Given the description of an element on the screen output the (x, y) to click on. 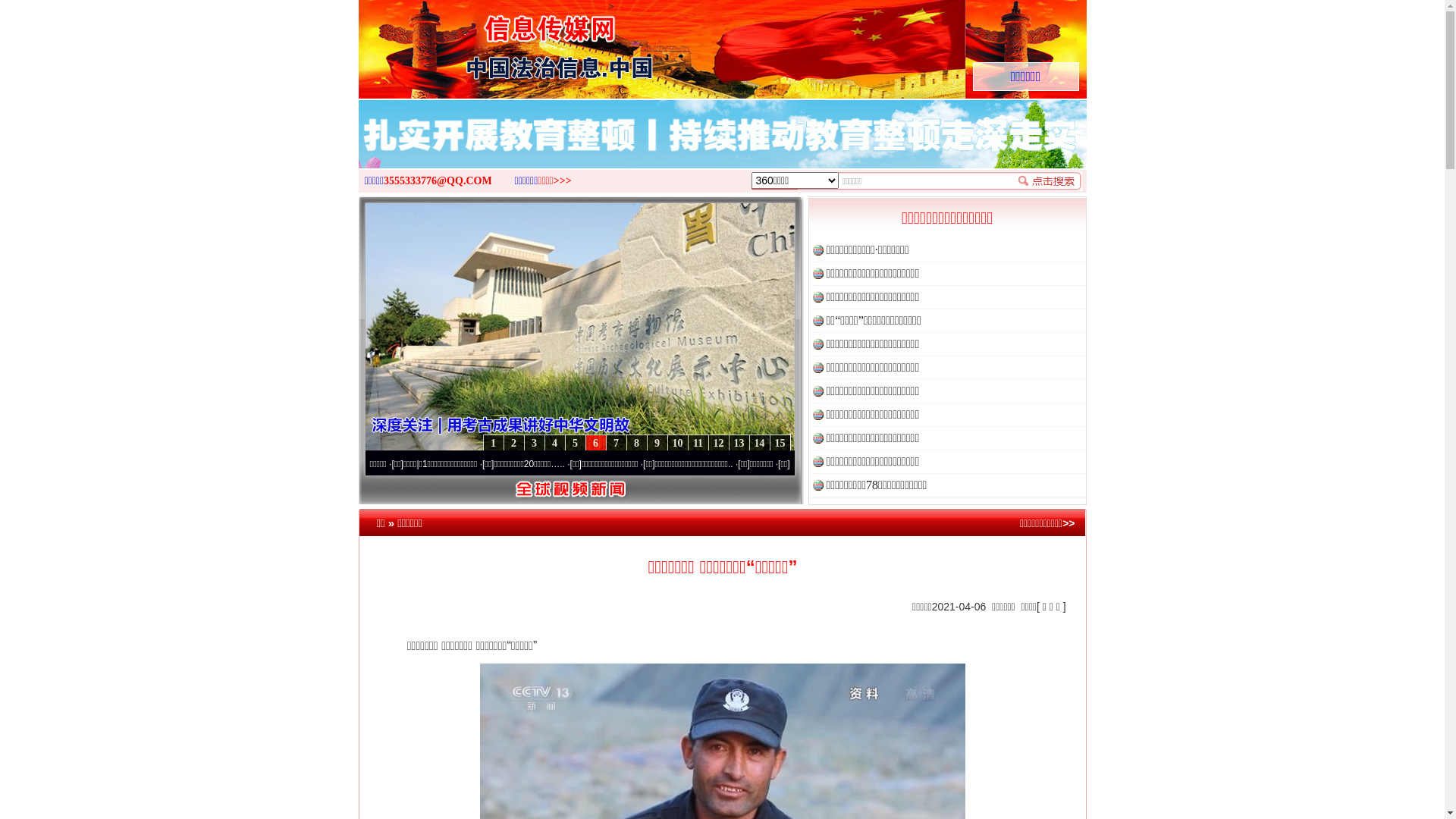
15 Element type: text (778, 442)
10 Element type: text (677, 442)
4 Element type: text (554, 442)
3 Element type: text (533, 442)
14 Element type: text (759, 442)
2 Element type: text (513, 442)
6 Element type: text (595, 442)
11 Element type: text (697, 442)
3555333776@QQ.COM Element type: text (437, 180)
1 Element type: text (492, 442)
5 Element type: text (574, 442)
8 Element type: text (636, 442)
13 Element type: text (738, 442)
12 Element type: text (718, 442)
7 Element type: text (615, 442)
9 Element type: text (656, 442)
